Given the description of an element on the screen output the (x, y) to click on. 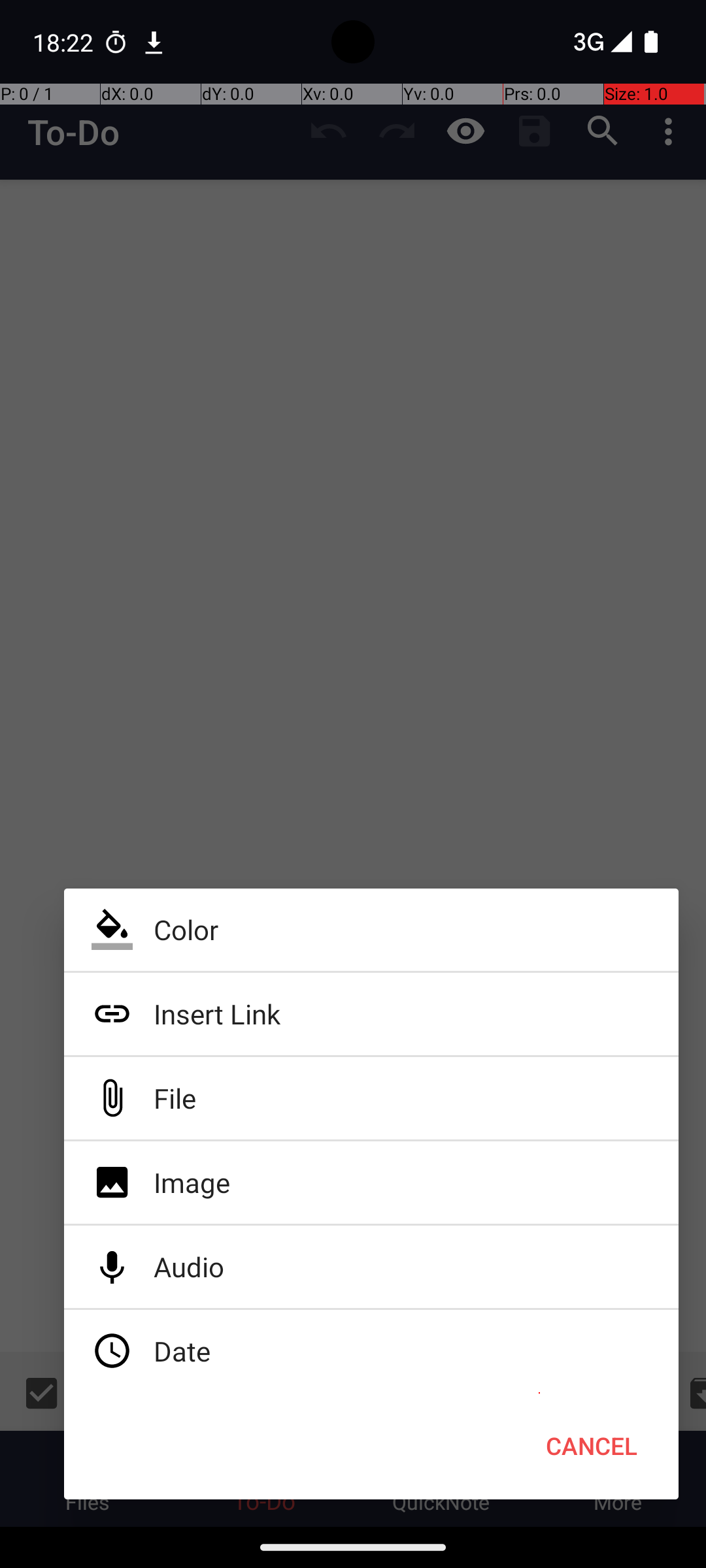
18:22 Element type: android.widget.TextView (64, 41)
